Given the description of an element on the screen output the (x, y) to click on. 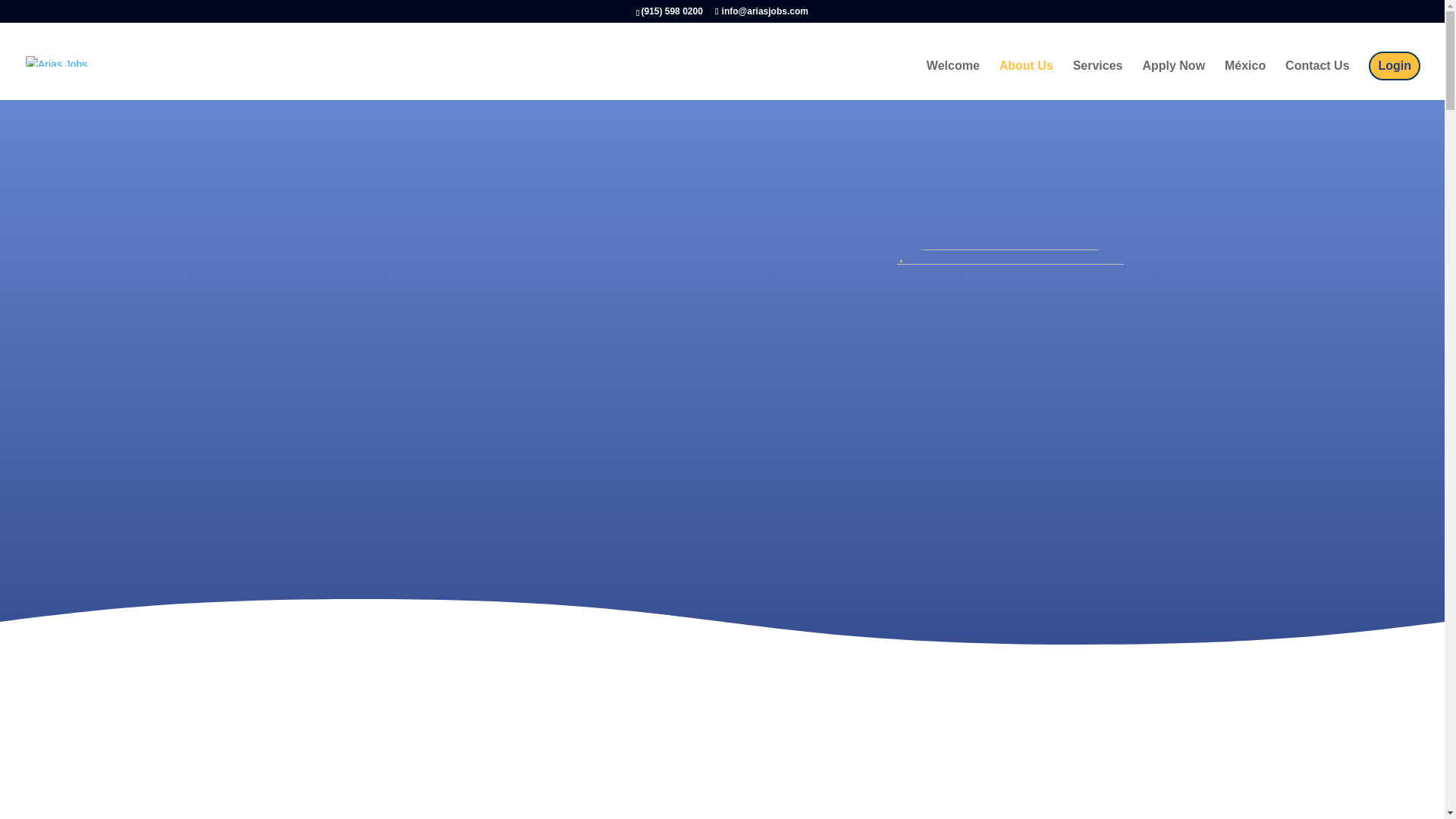
Manos (1009, 340)
Login (1394, 65)
Services (1097, 79)
Contact Us (1317, 79)
About Us (1025, 79)
Apply Now (1173, 79)
Welcome (952, 79)
